Given the description of an element on the screen output the (x, y) to click on. 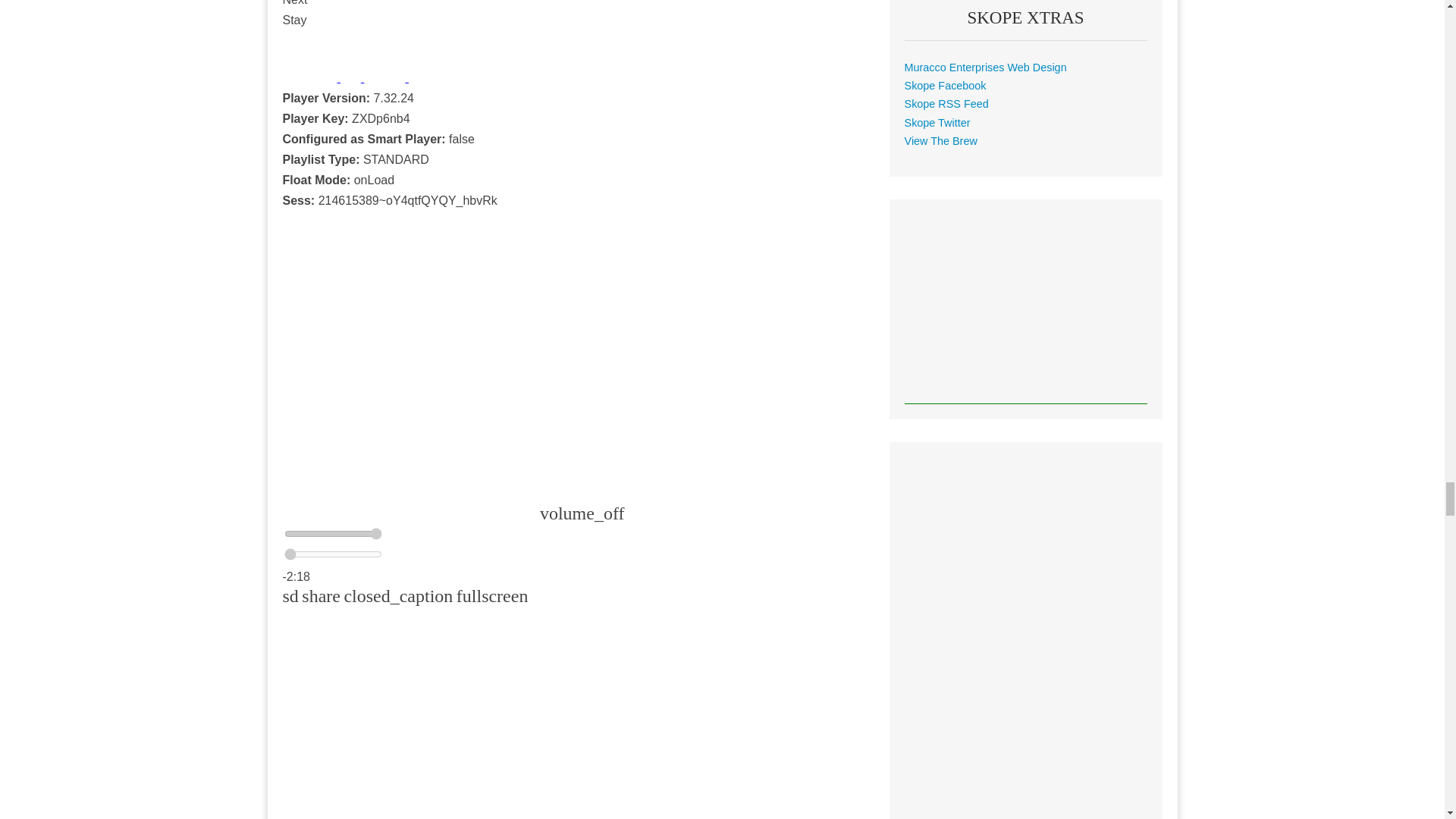
Skopemag.com RSS Feed (946, 103)
